Given the description of an element on the screen output the (x, y) to click on. 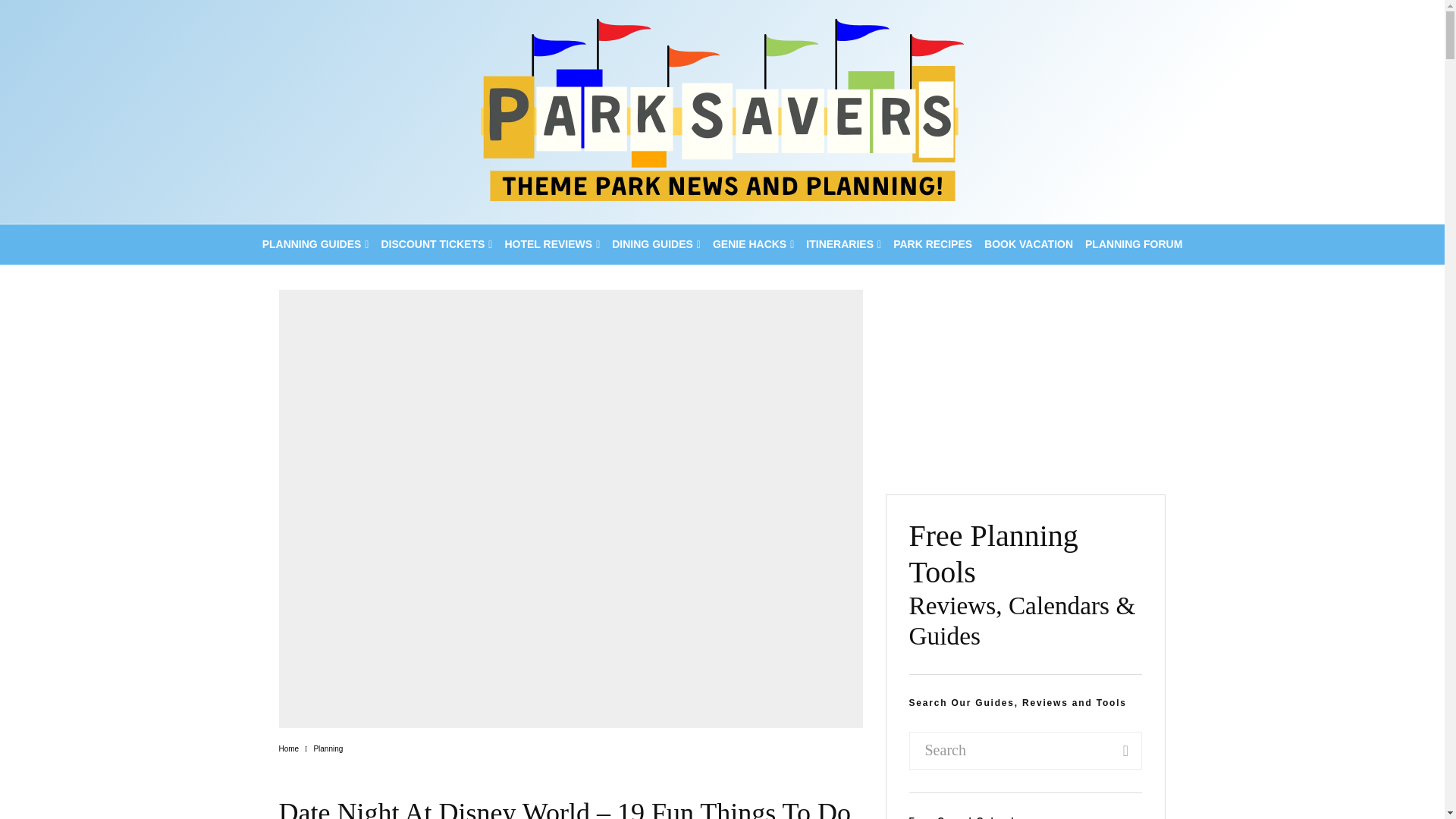
ITINERARIES (842, 244)
HOTEL REVIEWS (551, 244)
PLANNING FORUM (1133, 244)
DISCOUNT TICKETS (435, 244)
GENIE HACKS (752, 244)
DINING GUIDES (655, 244)
PARK RECIPES (932, 244)
BOOK VACATION (1028, 244)
PLANNING GUIDES (315, 244)
